Given the description of an element on the screen output the (x, y) to click on. 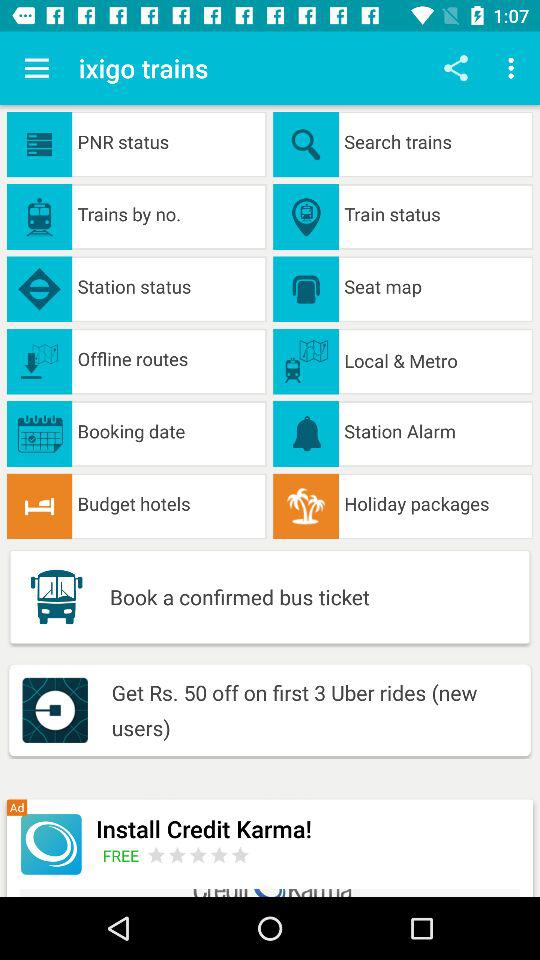
select icon below the get rs 50 icon (308, 828)
